Given the description of an element on the screen output the (x, y) to click on. 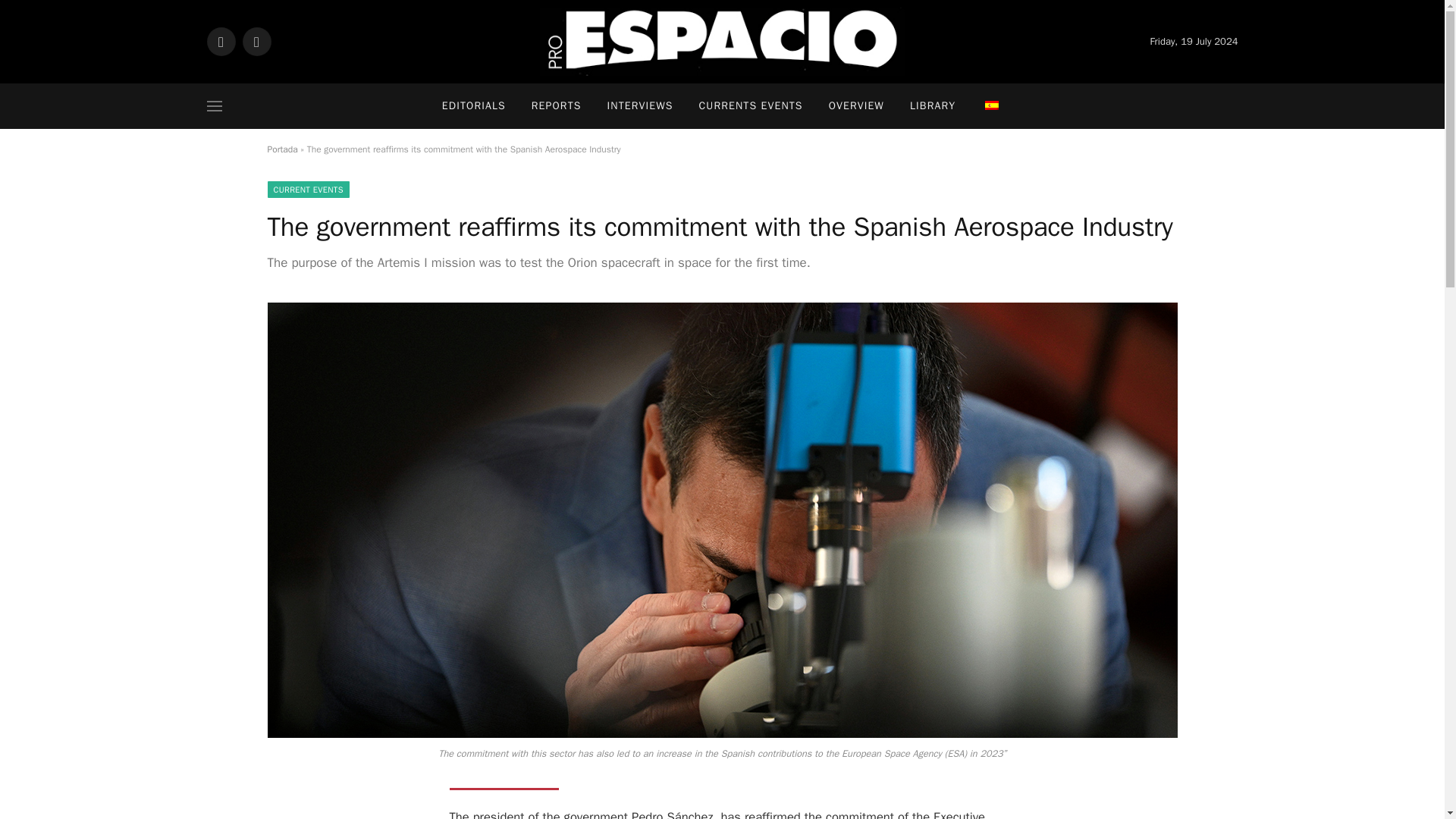
CURRENTS EVENTS (750, 105)
LinkedIn (256, 41)
Spanish (991, 104)
INTERVIEWS (639, 105)
EDITORIALS (473, 105)
LIBRARY (932, 105)
OVERVIEW (855, 105)
REPORTS (556, 105)
Portada (281, 149)
PROESPACIO (722, 41)
CURRENT EVENTS (307, 189)
